Given the description of an element on the screen output the (x, y) to click on. 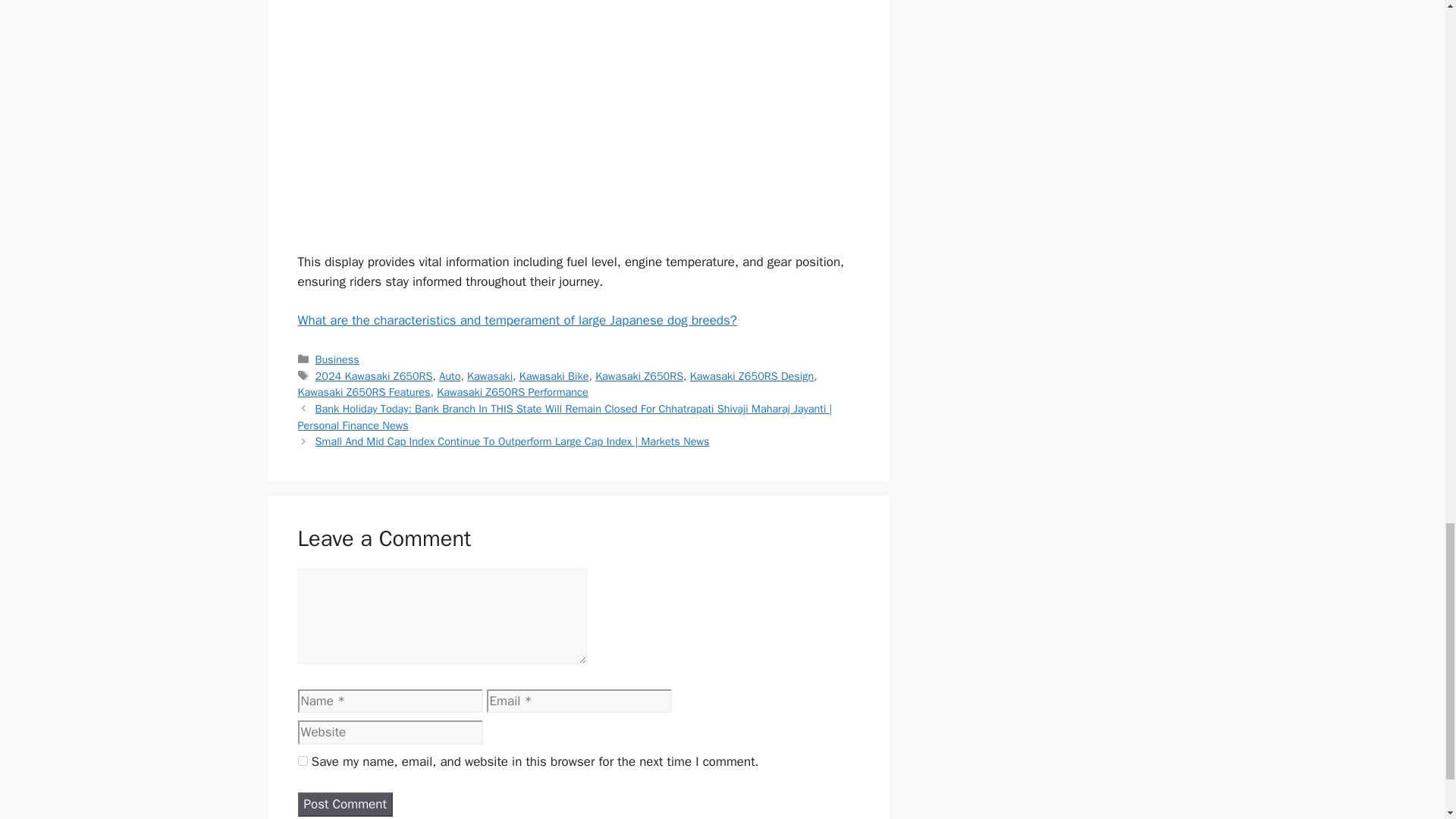
Business (337, 359)
Kawasaki Z650RS Performance (512, 391)
Post Comment (344, 804)
2024 Kawasaki Z650RS (373, 376)
Kawasaki Z650RS (638, 376)
Kawasaki Z650RS Features (363, 391)
Post Comment (344, 804)
Kawasaki Bike (554, 376)
yes (302, 760)
